Given the description of an element on the screen output the (x, y) to click on. 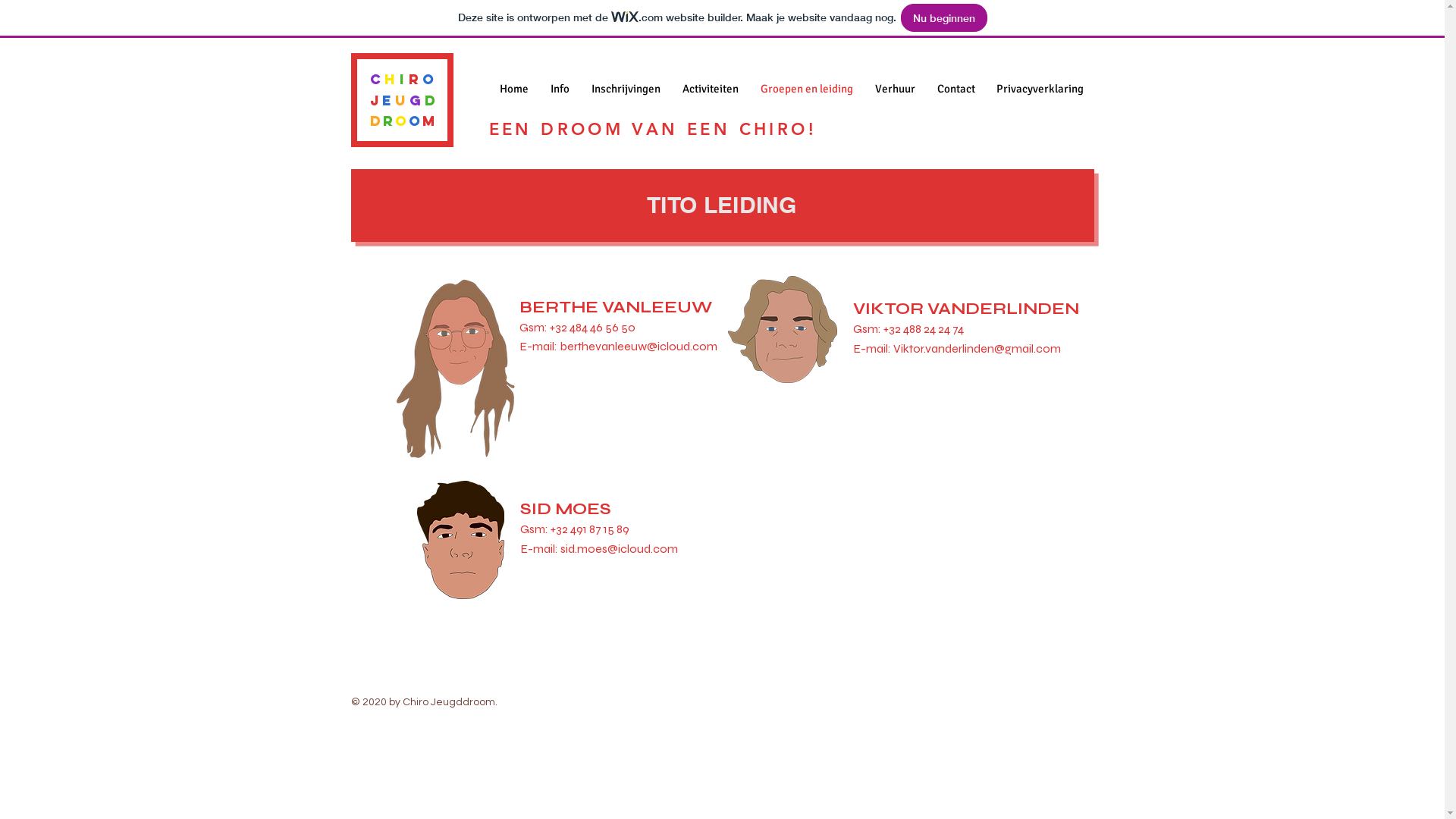
Privacyverklaring Element type: text (1039, 88)
Home Element type: text (513, 88)
Info Element type: text (559, 88)
Verhuur Element type: text (895, 88)
Contact Element type: text (955, 88)
Inschrijvingen Element type: text (625, 88)
berthevanleeuw@icloud.com Element type: text (638, 345)
Groepen en leiding Element type: text (806, 88)
Activiteiten Element type: text (710, 88)
